Given the description of an element on the screen output the (x, y) to click on. 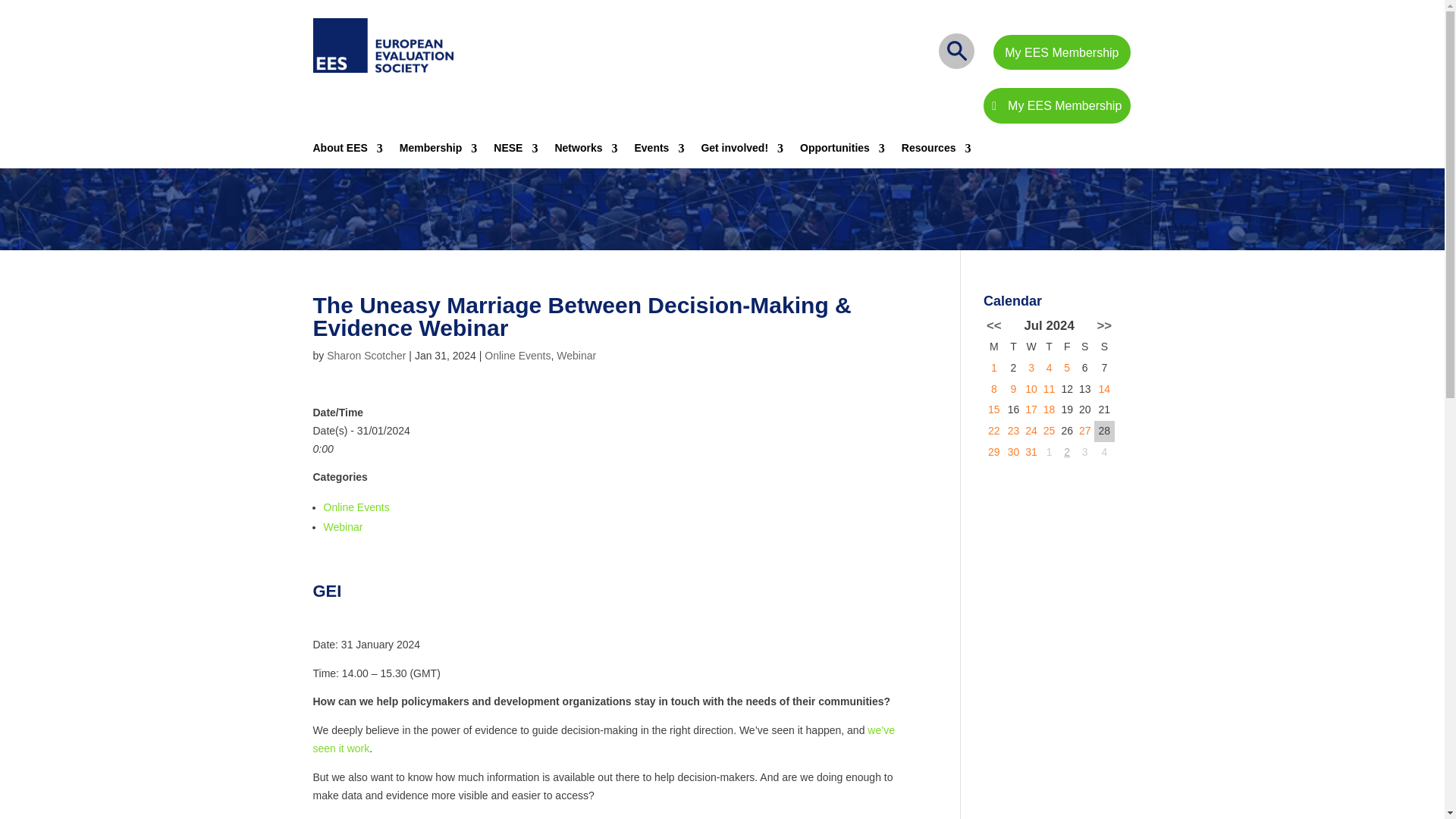
AI for Developing Countries Forum (1049, 409)
ct-logo (382, 45)
My EES Membership (1061, 52)
Networks (585, 153)
View all posts in Online Events (517, 355)
IDInsight Dignity Initiative RCT (1104, 388)
Membership (437, 153)
About EES (347, 153)
View all posts in Webinar (575, 355)
Posts by Sharon Scotcher (366, 355)
NESE (515, 153)
My EES Membership (1056, 105)
Webinar: Including Maximum Budgets in Tenders: Pros and Cons (1049, 388)
